Given the description of an element on the screen output the (x, y) to click on. 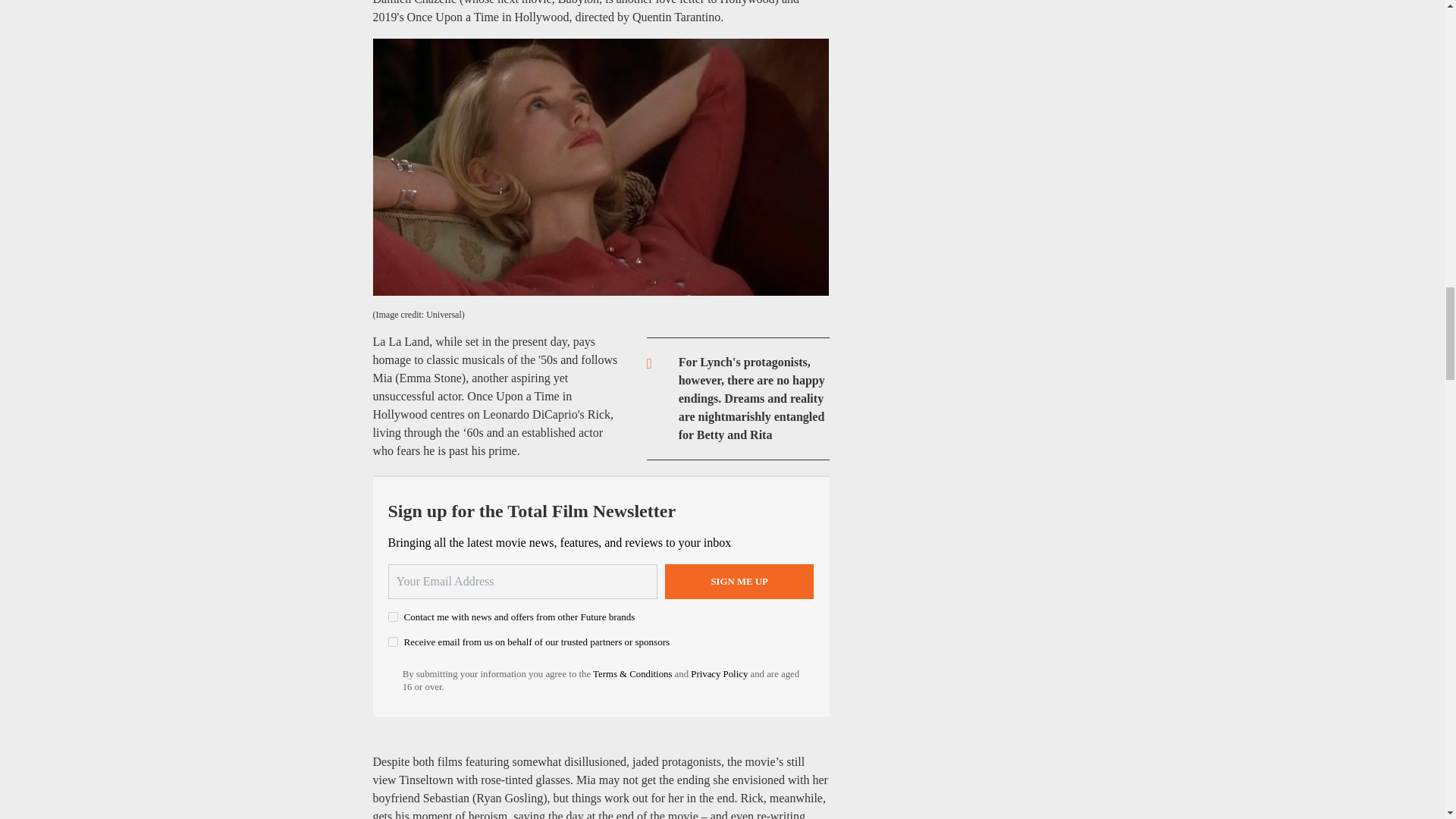
on (392, 616)
Sign me up (739, 581)
on (392, 642)
